Given the description of an element on the screen output the (x, y) to click on. 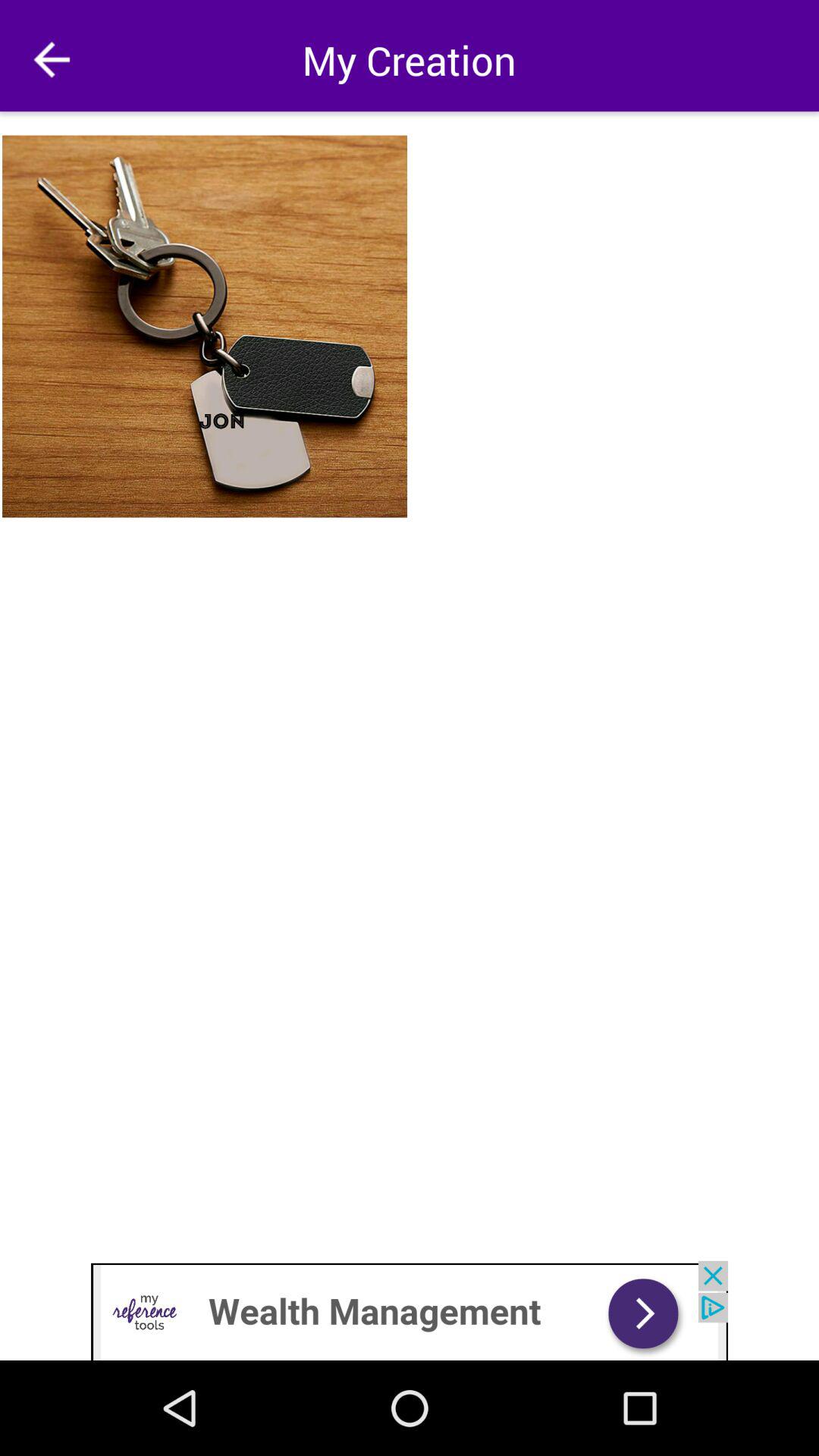
advertisement (409, 1310)
